Given the description of an element on the screen output the (x, y) to click on. 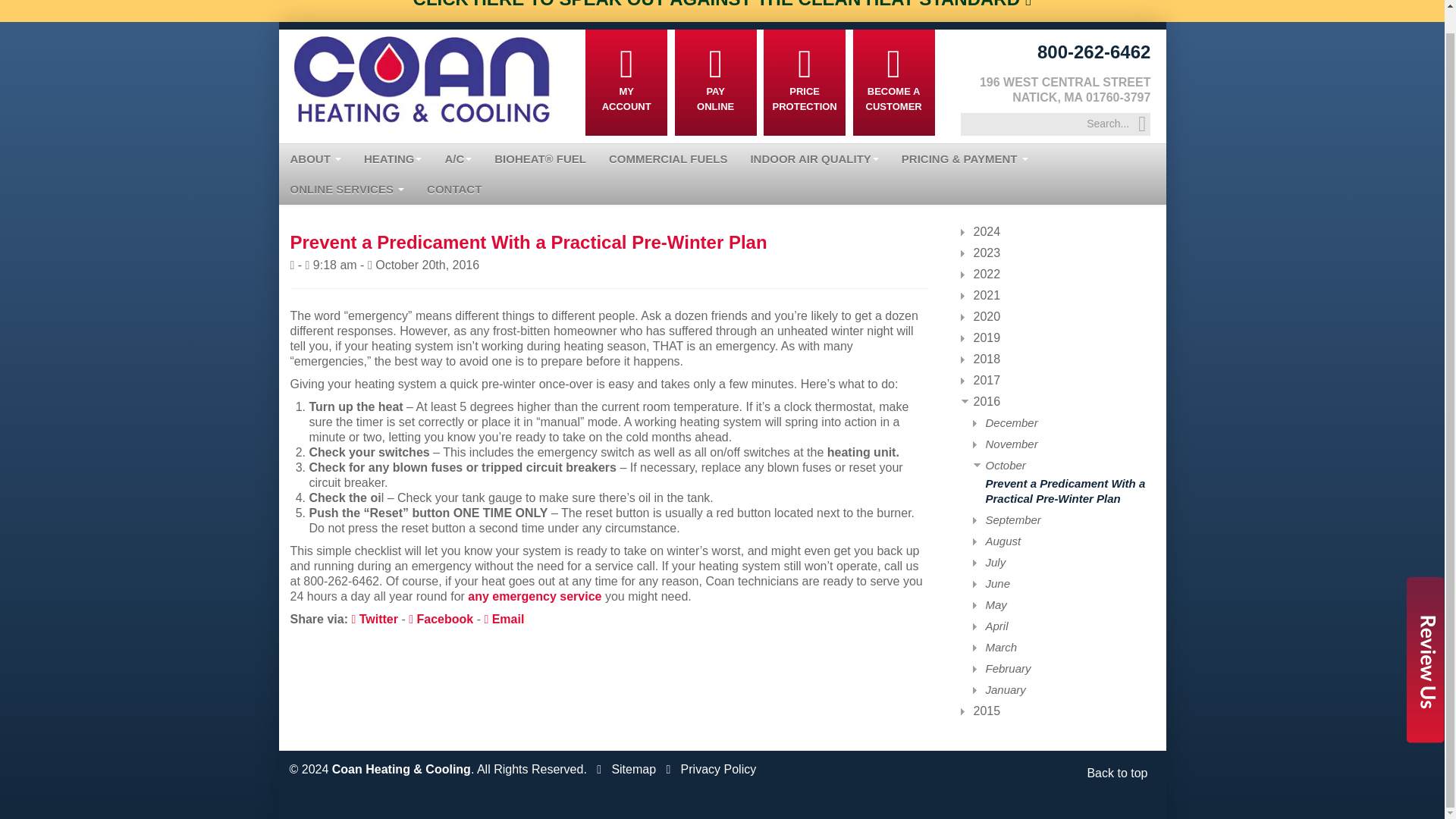
800-262-6462 (1093, 51)
HEATING (392, 159)
ABOUT (316, 159)
CLICK HERE TO SPEAK OUT AGAINST THE CLEAN HEAT STANDARD (722, 4)
